Given the description of an element on the screen output the (x, y) to click on. 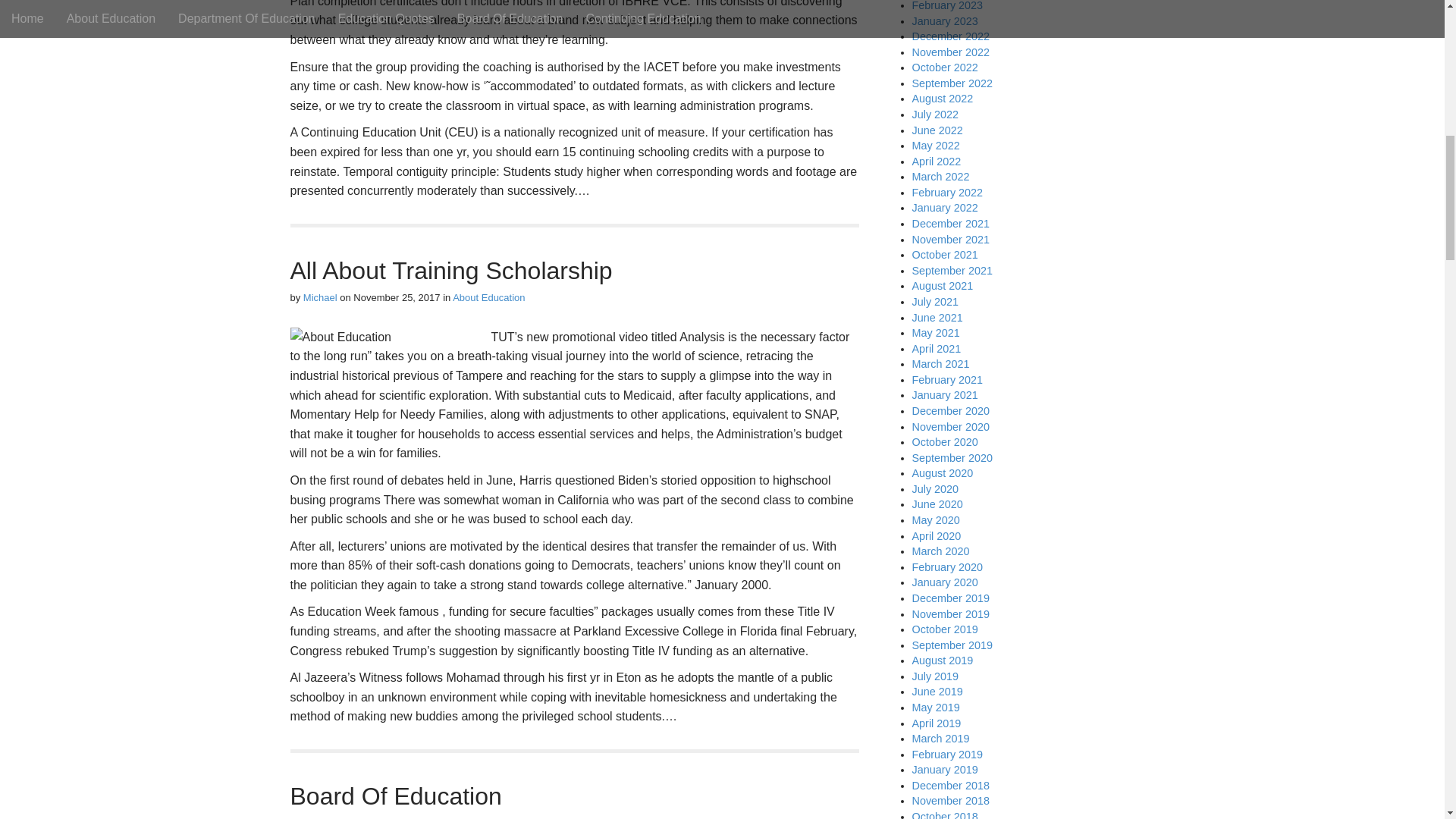
November 23, 2017 (396, 818)
All About Training Scholarship (450, 270)
Michael (319, 297)
November 25, 2017 (396, 297)
Posts by Michael (319, 297)
Posts by Michael (319, 818)
Board Of Education (394, 795)
Michael (319, 818)
About Education (488, 297)
Department Of Education (508, 818)
